Given the description of an element on the screen output the (x, y) to click on. 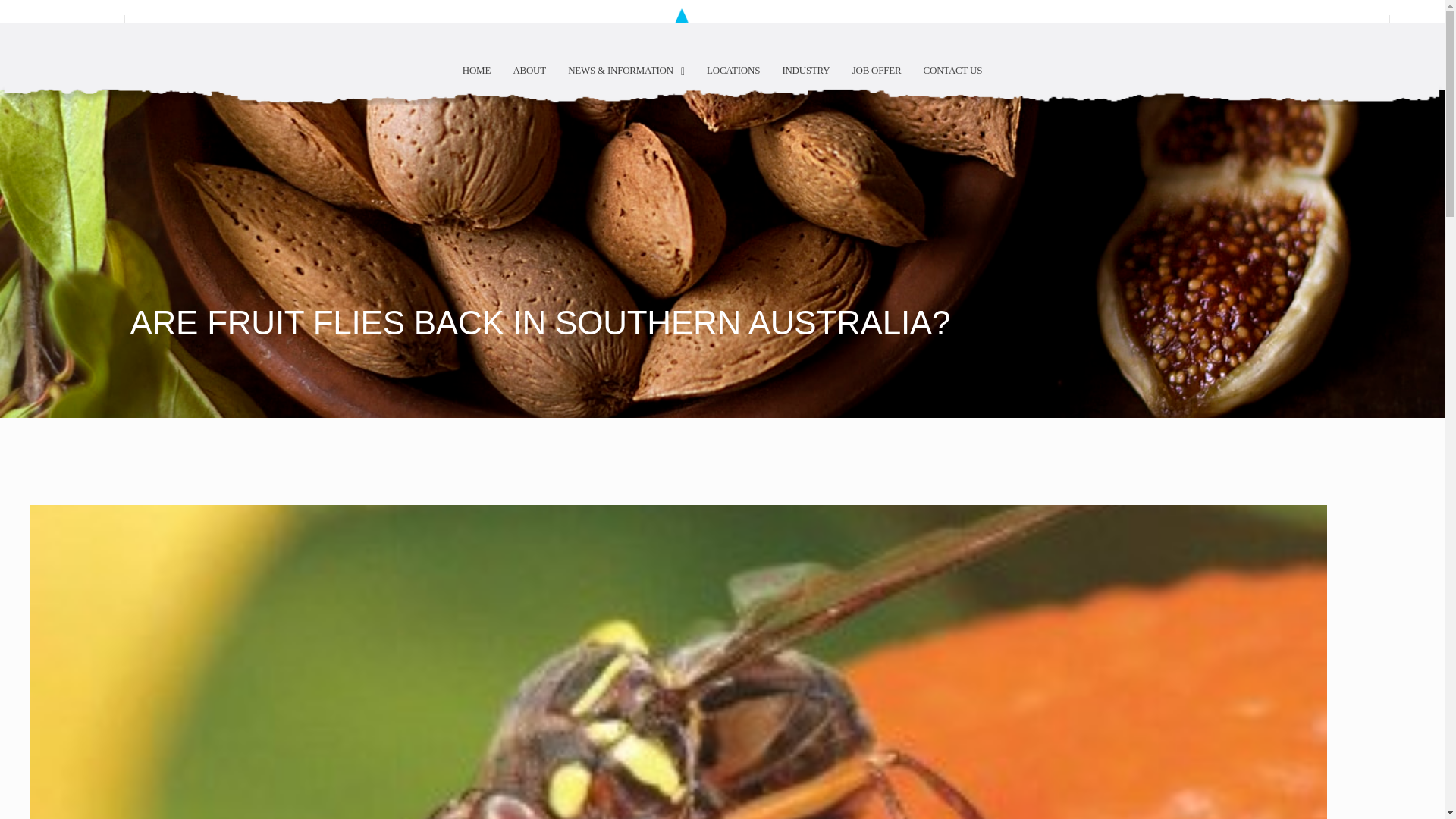
INDUSTRY (805, 70)
HOME (476, 70)
ABOUT (529, 70)
LOCATIONS (733, 70)
JOB OFFER (876, 70)
CONTACT US (952, 70)
